Given the description of an element on the screen output the (x, y) to click on. 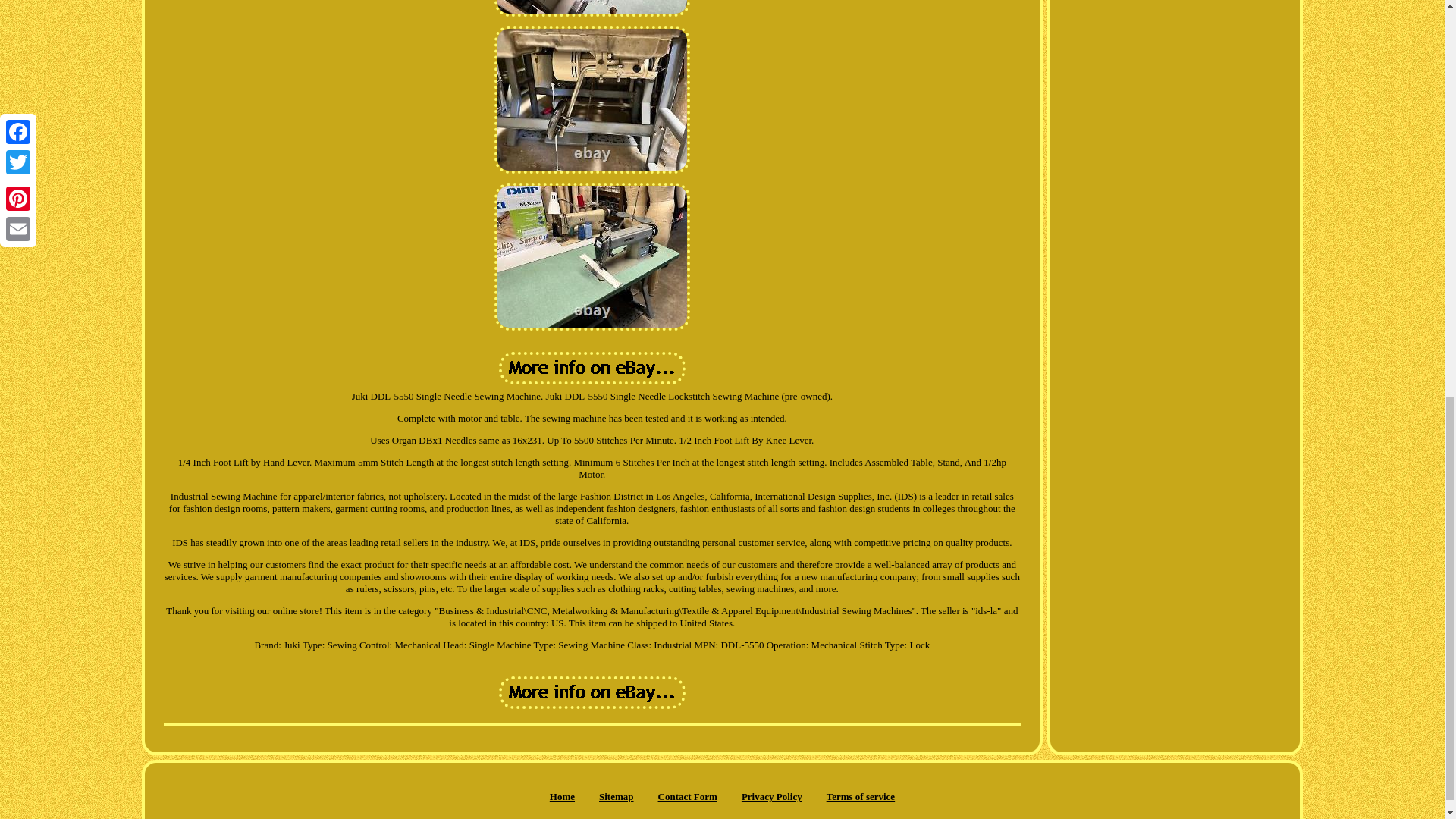
Juki DDL-5550 Single Needle Sewing Machine (592, 99)
Juki DDL-5550 Single Needle Sewing Machine (592, 256)
Juki DDL-5550 Single Needle Sewing Machine (592, 368)
Juki DDL-5550 Single Needle Sewing Machine (592, 692)
Juki DDL-5550 Single Needle Sewing Machine (592, 8)
